Given the description of an element on the screen output the (x, y) to click on. 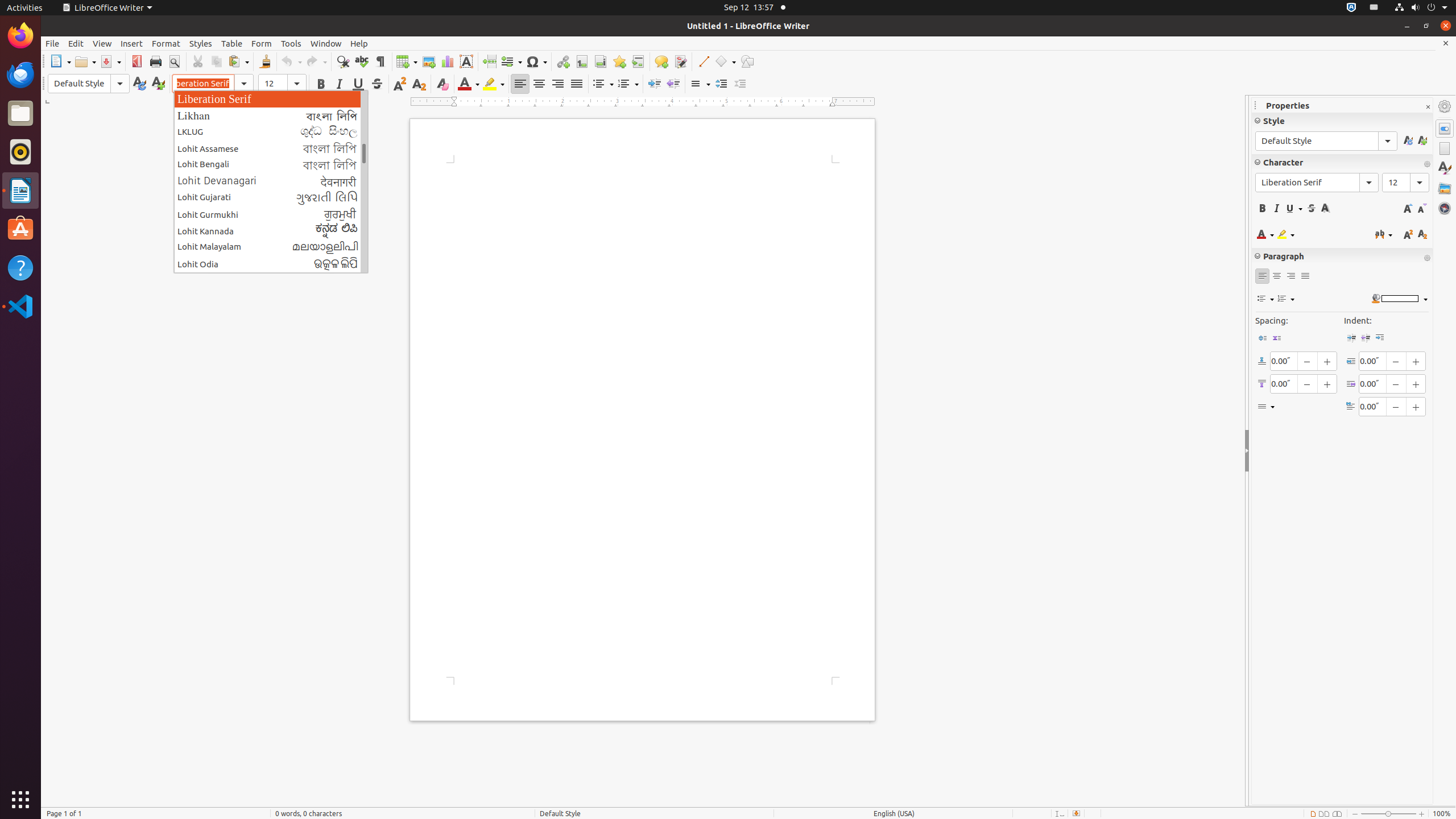
View Element type: menu (102, 43)
LKLUG Element type: list-item (270, 131)
Lohit Gurmukhi Element type: list-item (270, 213)
Cross-reference Element type: push-button (637, 61)
Help Element type: menu (358, 43)
